Given the description of an element on the screen output the (x, y) to click on. 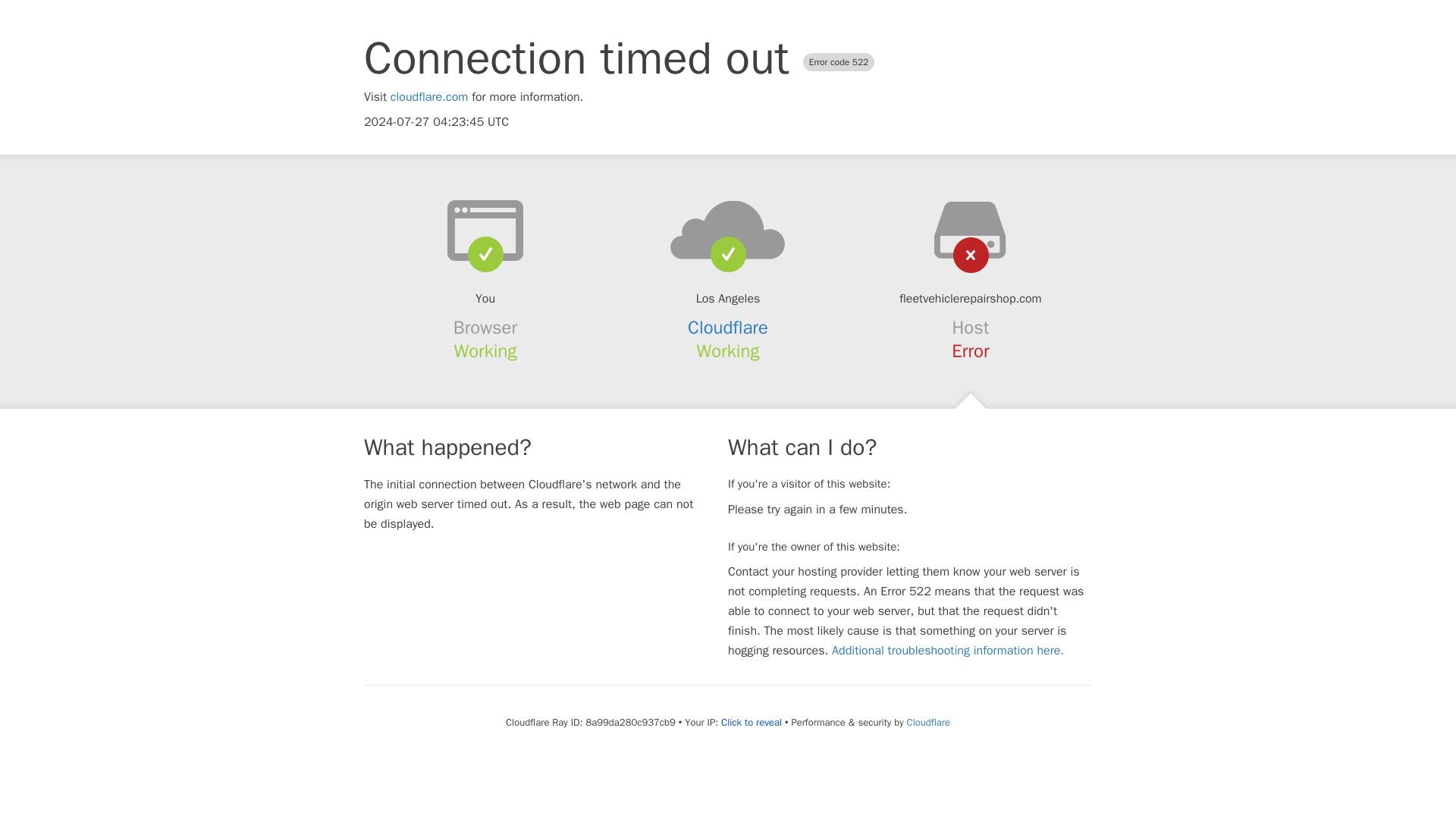
cloudflare.com (429, 96)
Additional troubleshooting information here. (947, 650)
Click to reveal (750, 722)
Cloudflare (928, 721)
Cloudflare (727, 327)
